Given the description of an element on the screen output the (x, y) to click on. 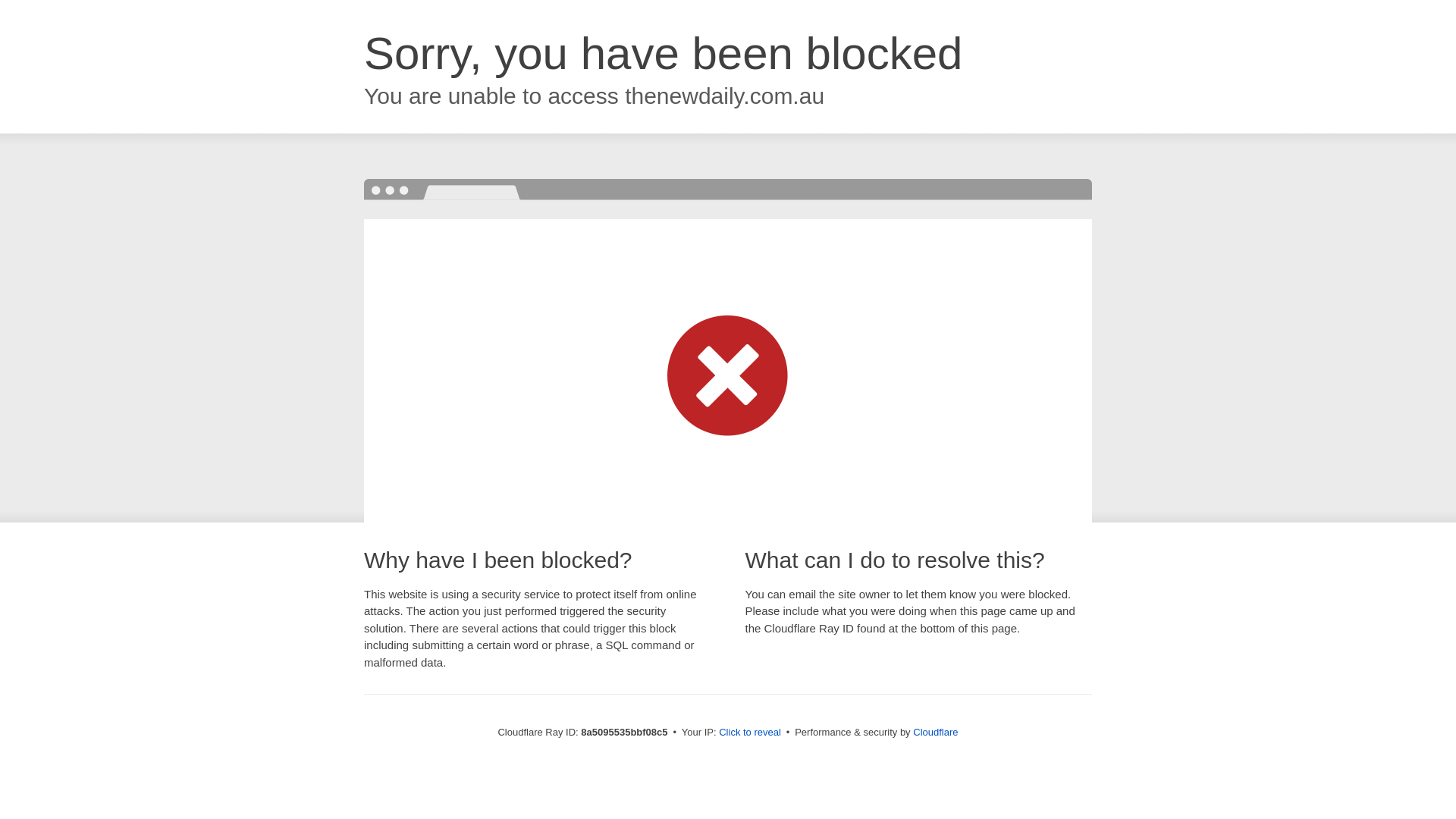
Click to reveal (749, 732)
Cloudflare (935, 731)
